Given the description of an element on the screen output the (x, y) to click on. 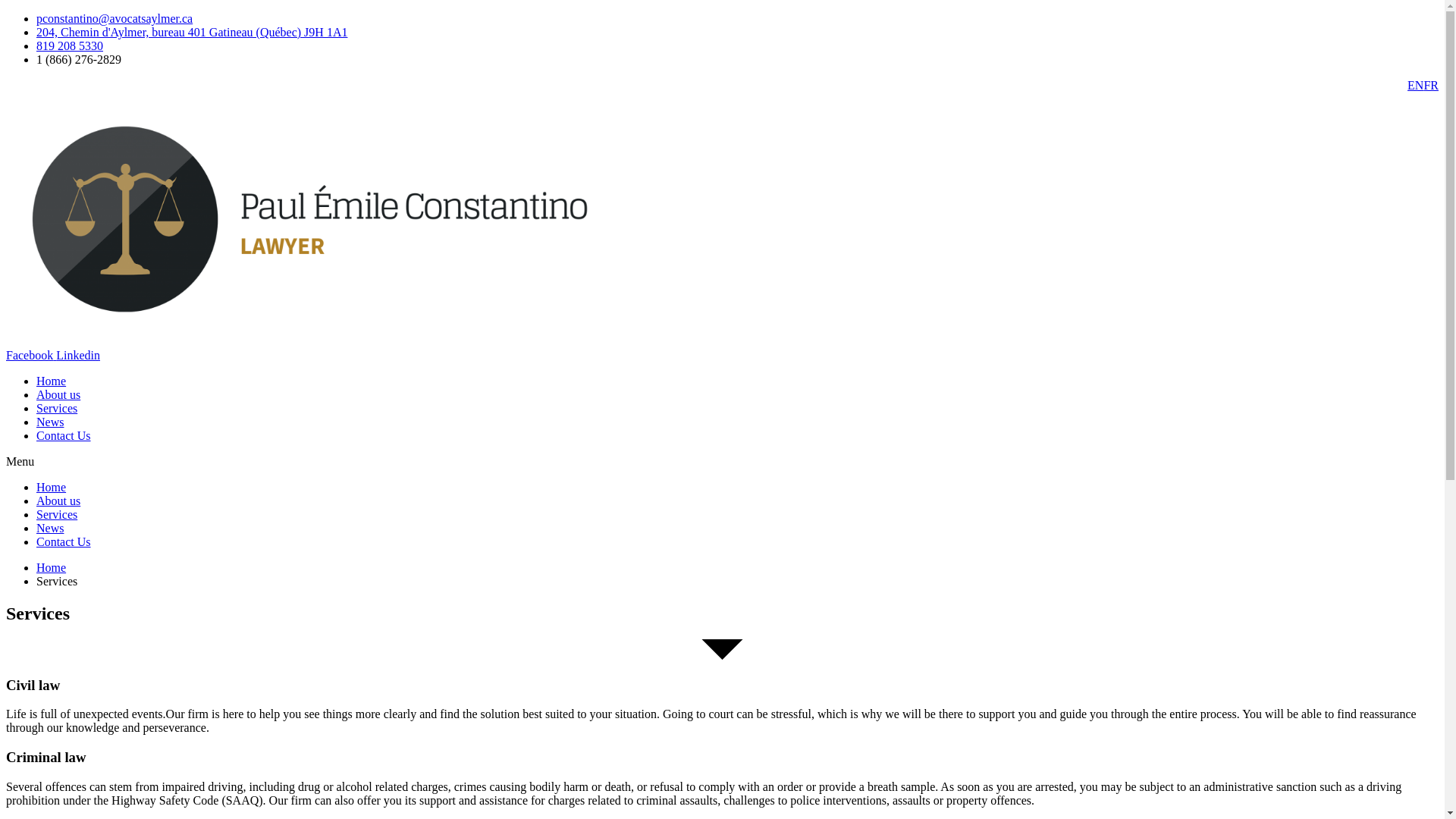
Home Element type: text (50, 567)
FR Element type: text (1430, 85)
Services Element type: text (56, 407)
News Element type: text (49, 527)
Linkedin Element type: text (78, 354)
Contact Us Element type: text (63, 435)
Services Element type: text (56, 514)
News Element type: text (49, 421)
EN Element type: text (1415, 85)
Home Element type: text (50, 486)
pconstantino@avocatsaylmer.ca Element type: text (114, 18)
About us Element type: text (58, 394)
Contact Us Element type: text (63, 541)
819 208 5330 Element type: text (69, 45)
About us Element type: text (58, 500)
Facebook Element type: text (31, 354)
Home Element type: text (50, 380)
